Given the description of an element on the screen output the (x, y) to click on. 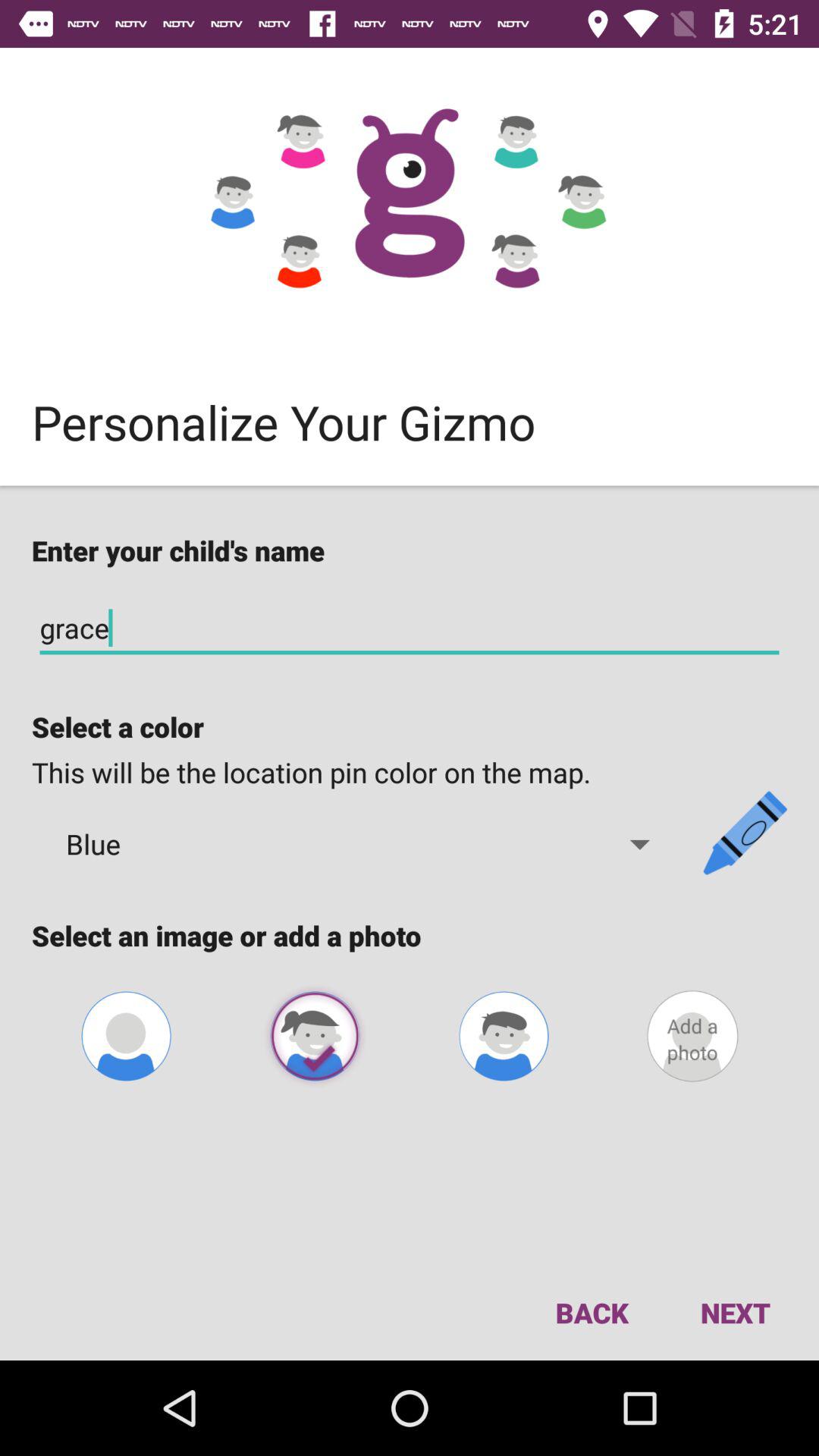
contact (126, 1036)
